Given the description of an element on the screen output the (x, y) to click on. 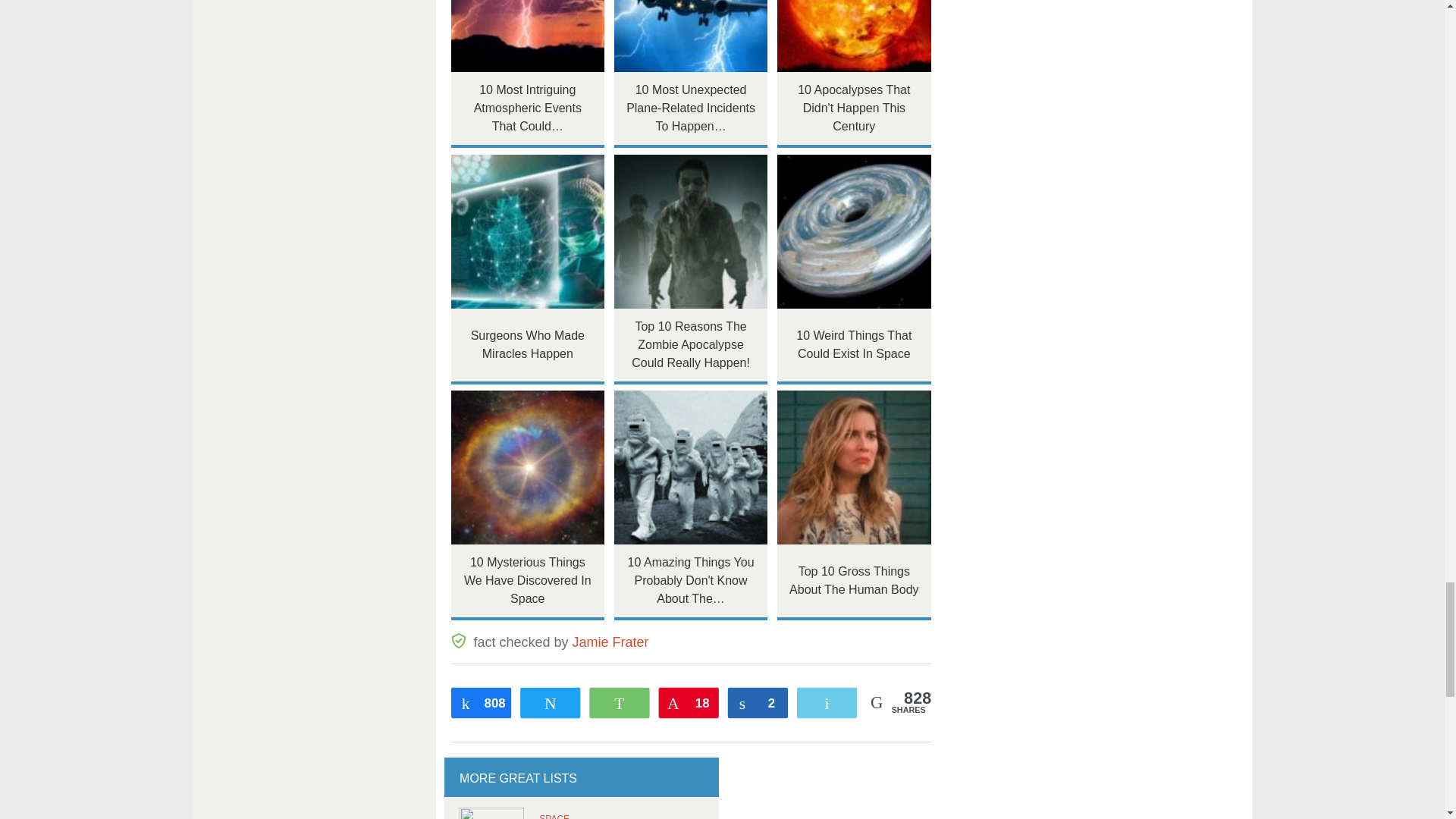
10 Apocalypses That Didn't Happen This Century (854, 36)
